Given the description of an element on the screen output the (x, y) to click on. 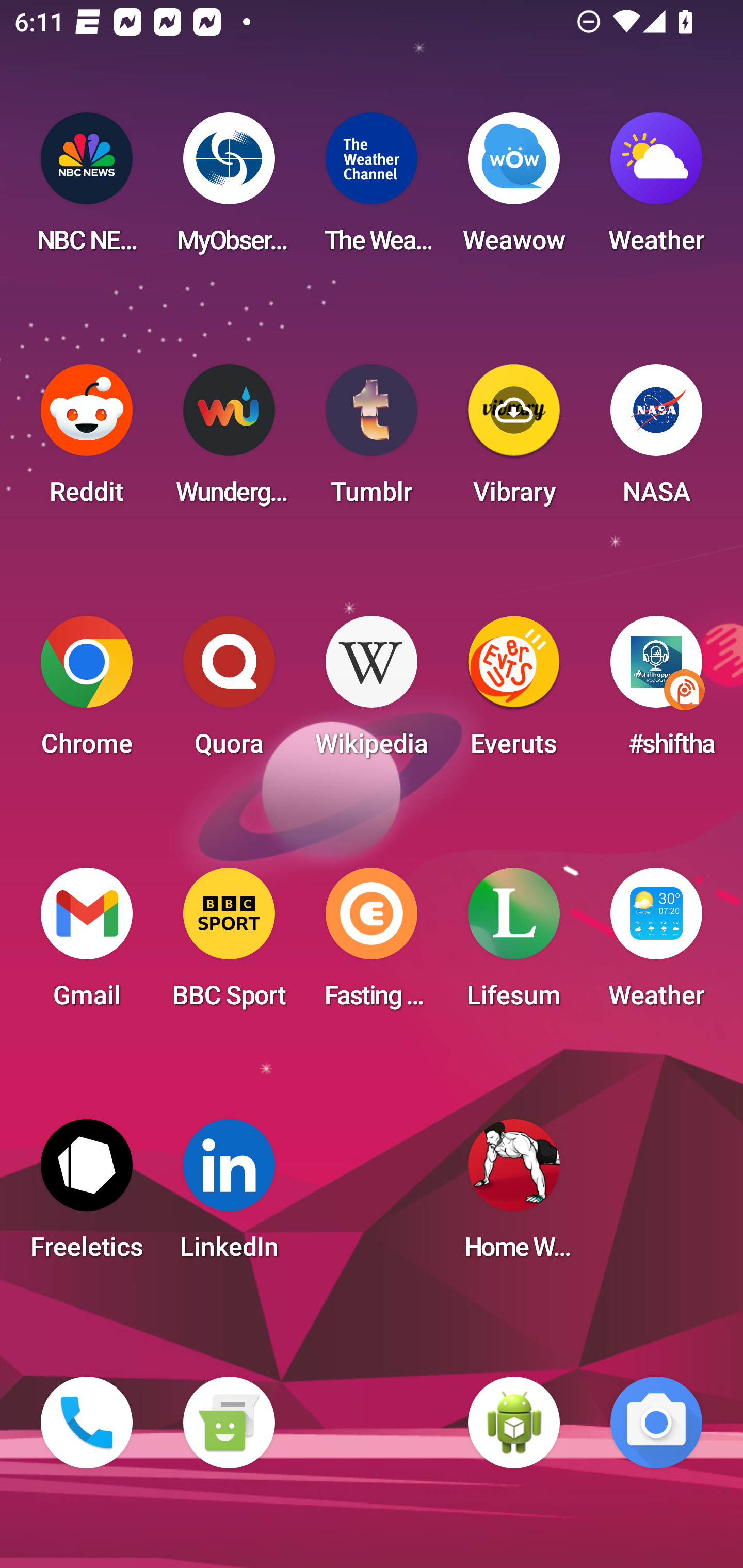
NBC NEWS (86, 188)
MyObservatory (228, 188)
The Weather Channel (371, 188)
Weawow (513, 188)
Weather (656, 188)
Reddit (86, 440)
Wunderground (228, 440)
Tumblr (371, 440)
Vibrary (513, 440)
NASA (656, 440)
Chrome (86, 692)
Quora (228, 692)
Wikipedia (371, 692)
Everuts (513, 692)
#shifthappens in the Digital Workplace Podcast (656, 692)
Gmail (86, 943)
BBC Sport (228, 943)
Fasting Coach (371, 943)
Lifesum (513, 943)
Weather (656, 943)
Freeletics (86, 1195)
LinkedIn (228, 1195)
Home Workout (513, 1195)
Phone (86, 1422)
Messaging (228, 1422)
WebView Browser Tester (513, 1422)
Camera (656, 1422)
